Given the description of an element on the screen output the (x, y) to click on. 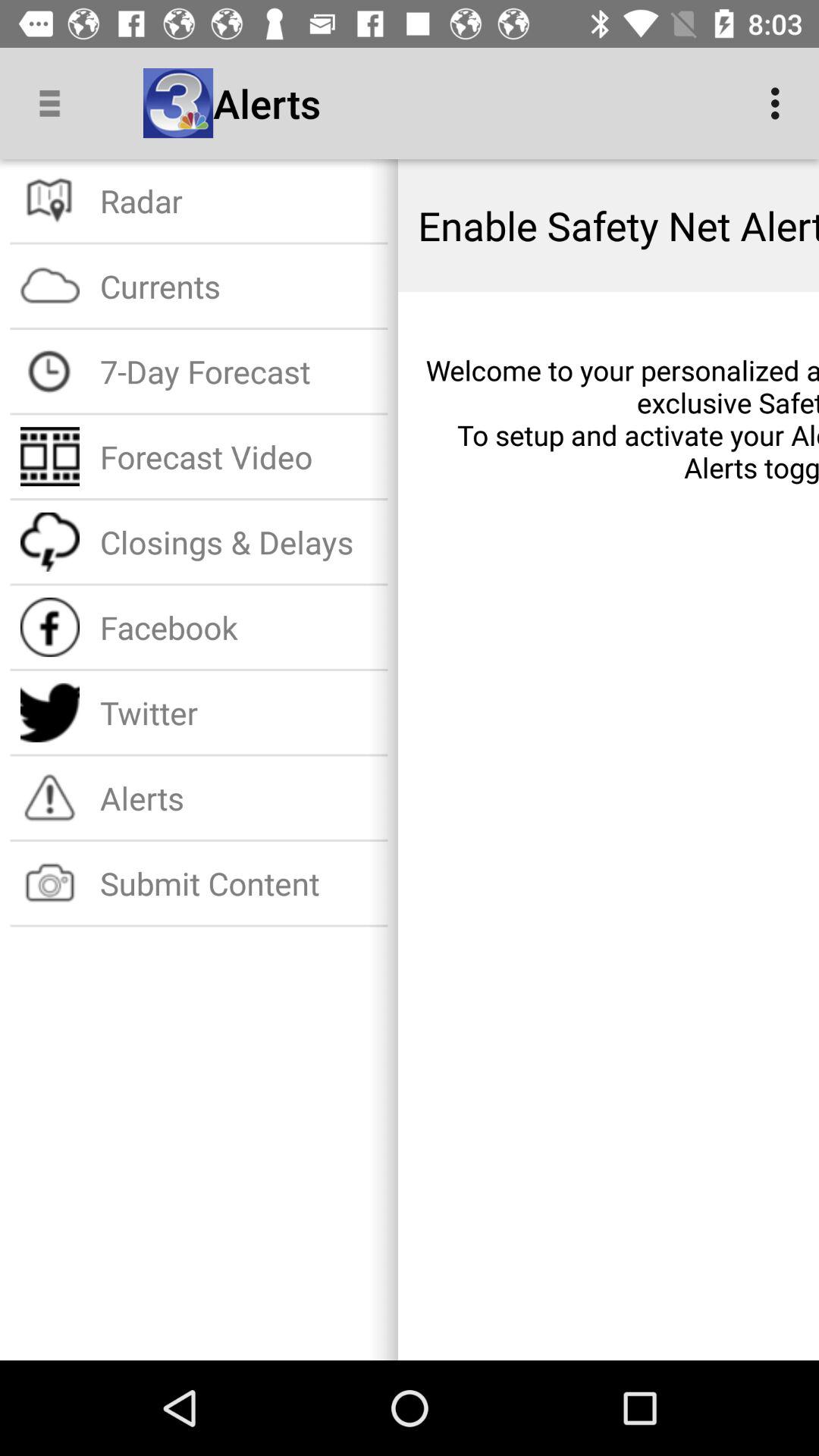
tap the radar item (238, 200)
